Given the description of an element on the screen output the (x, y) to click on. 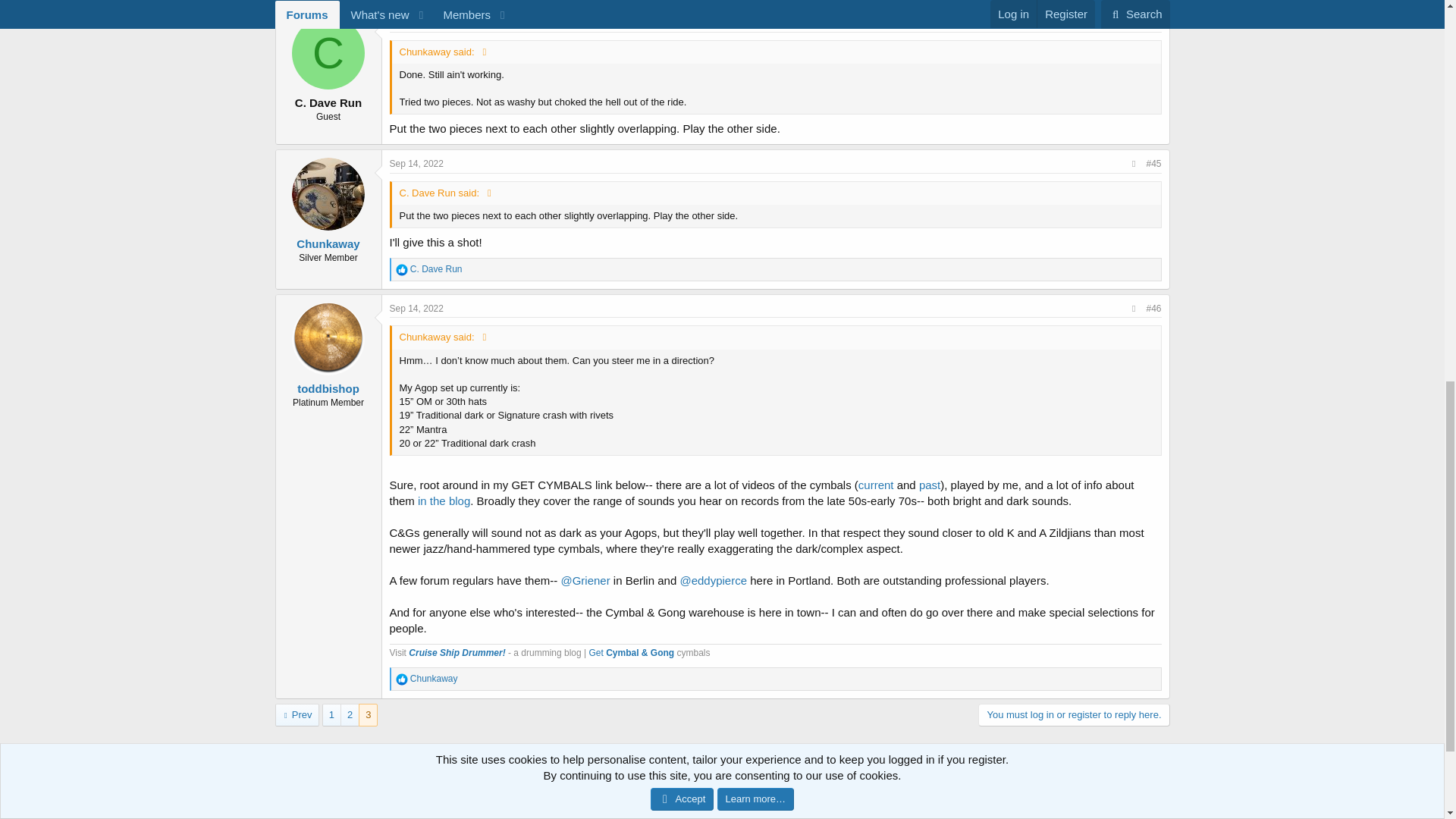
Like (401, 269)
Sep 14, 2022 at 7:28 PM (417, 163)
Sep 14, 2022 at 7:22 PM (417, 22)
C. Dave Run (328, 52)
Like (401, 679)
Sep 14, 2022 at 7:34 PM (417, 308)
